Given the description of an element on the screen output the (x, y) to click on. 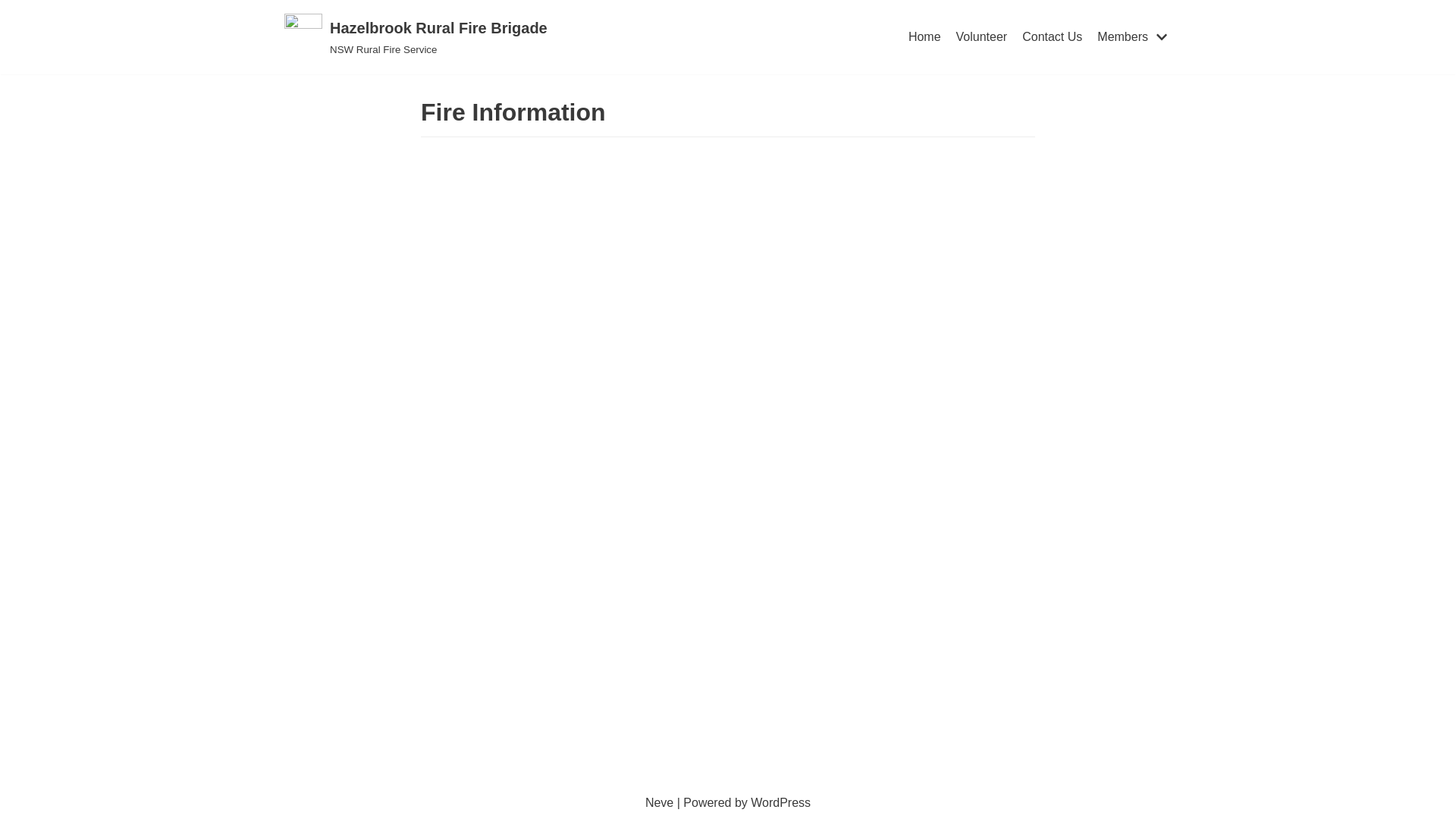
Volunteer Element type: text (981, 37)
Contact Us Element type: text (1052, 37)
Members Element type: text (1134, 37)
WordPress Element type: text (780, 802)
Home Element type: text (924, 37)
Hazelbrook Rural Fire Brigade
NSW Rural Fire Service Element type: text (415, 36)
Neve Element type: text (659, 802)
Skip to content Element type: text (15, 31)
